Given the description of an element on the screen output the (x, y) to click on. 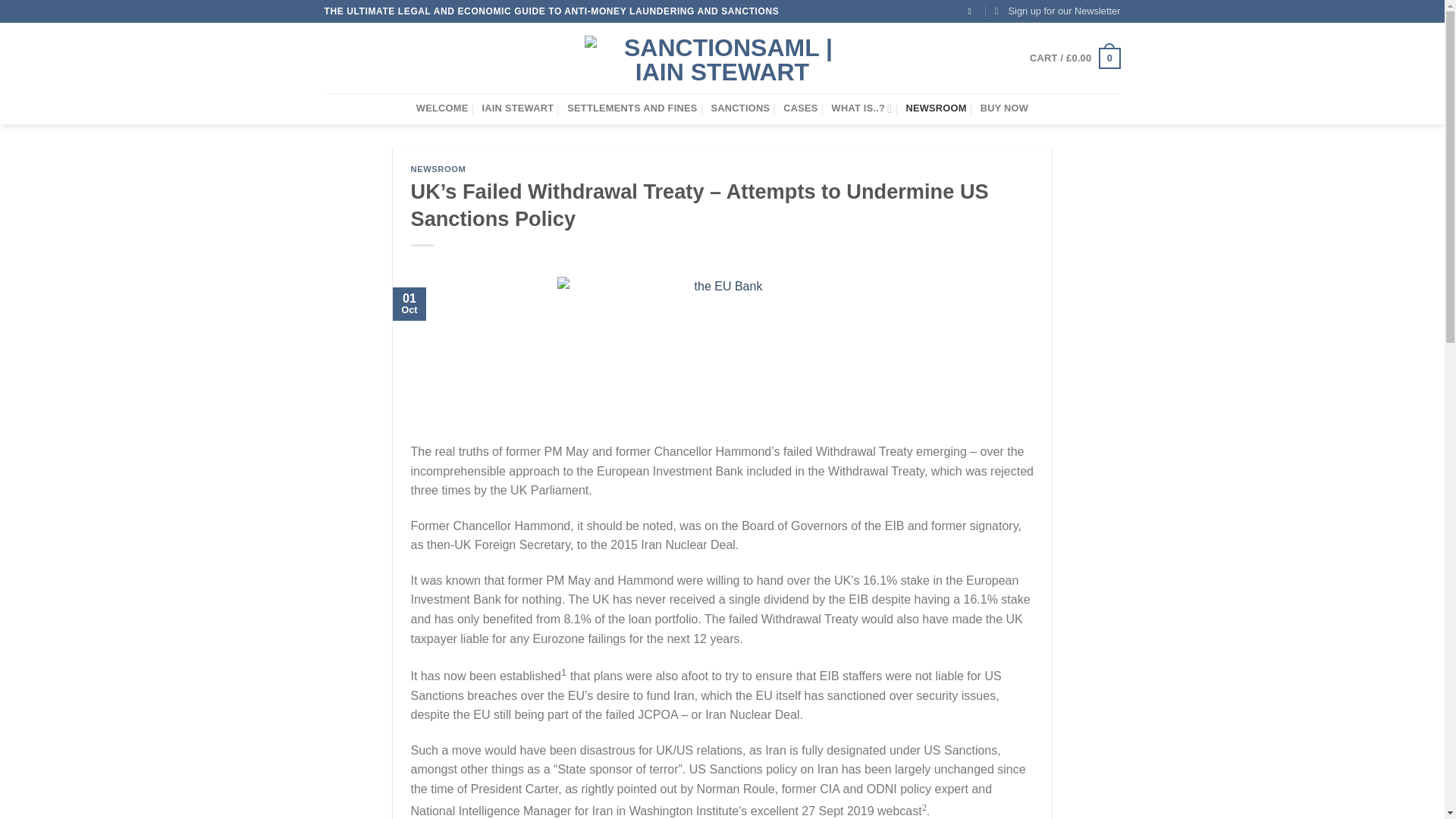
SANCTIONS (740, 108)
WHAT IS..? (861, 108)
WELCOME (442, 108)
Cart (1074, 57)
NEWSROOM (935, 108)
CASES (799, 108)
IAIN STEWART (517, 108)
BUY NOW (1003, 108)
SETTLEMENTS AND FINES (632, 108)
